Given the description of an element on the screen output the (x, y) to click on. 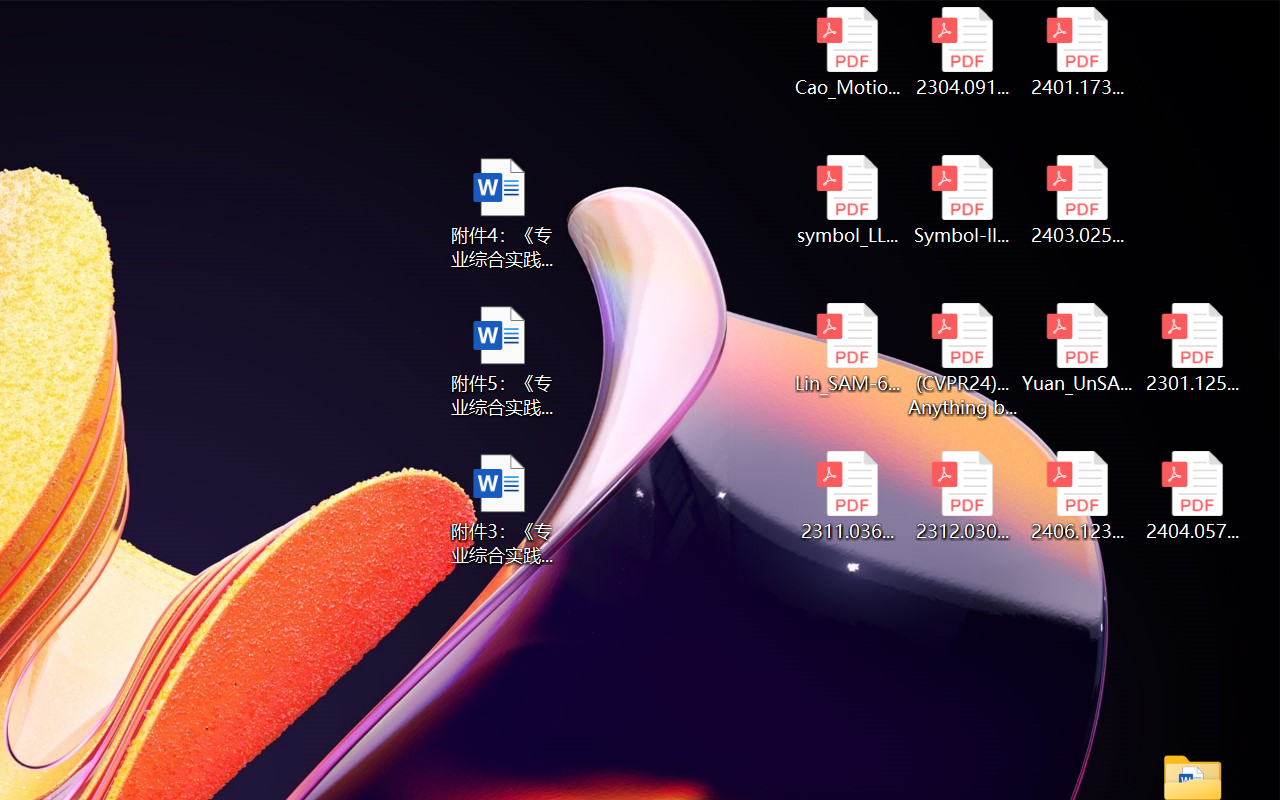
2311.03658v2.pdf (846, 496)
(CVPR24)Matching Anything by Segmenting Anything.pdf (962, 360)
2312.03032v2.pdf (962, 496)
2404.05719v1.pdf (1192, 496)
2304.09121v3.pdf (962, 52)
symbol_LLM.pdf (846, 200)
2403.02502v1.pdf (1077, 200)
2406.12373v2.pdf (1077, 496)
2401.17399v1.pdf (1077, 52)
2301.12597v3.pdf (1192, 348)
